Given the description of an element on the screen output the (x, y) to click on. 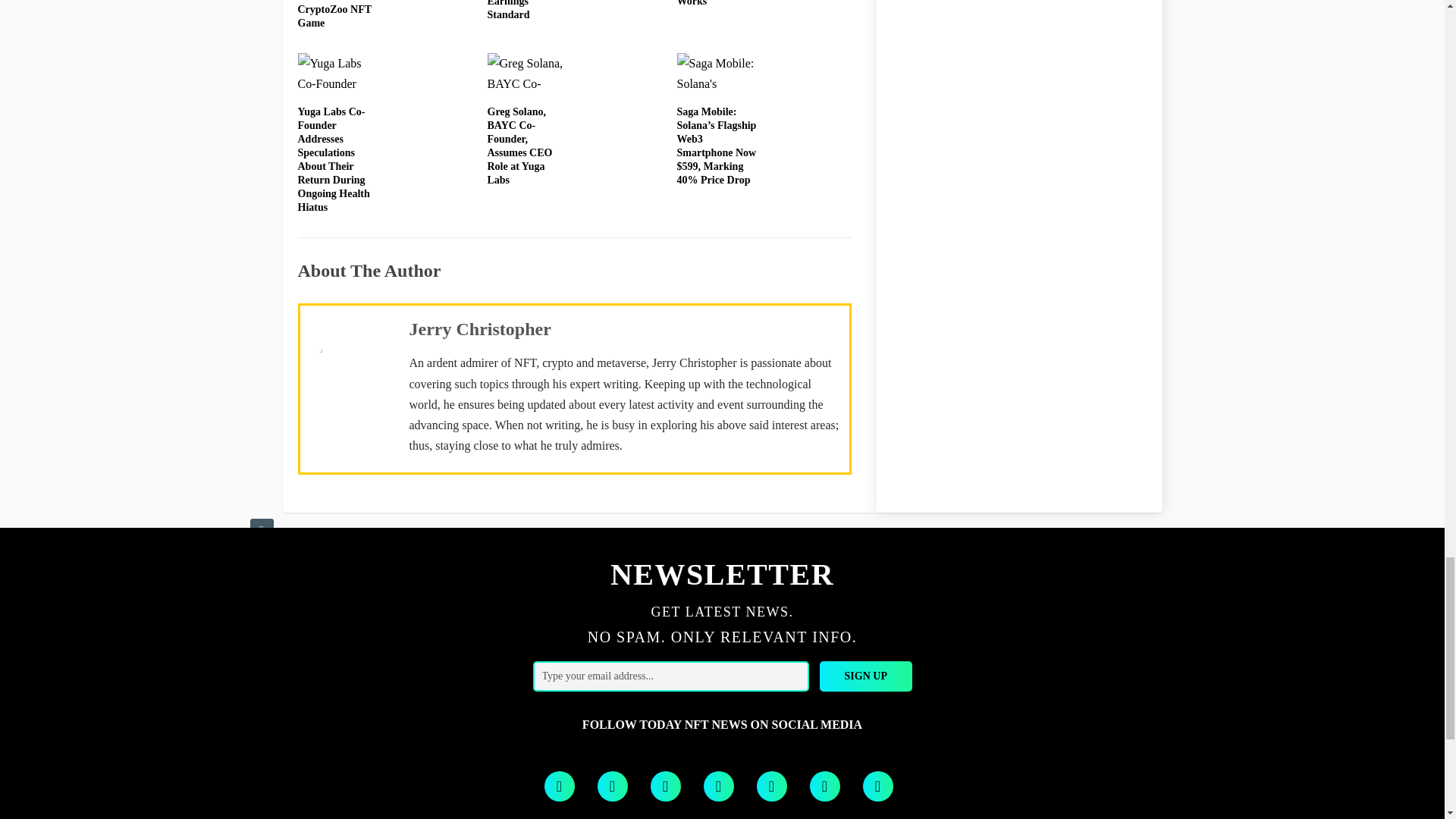
Norman Rockwell Museum Launches NFTs of Unpublished Works (711, 3)
SIGN UP (865, 675)
